Given the description of an element on the screen output the (x, y) to click on. 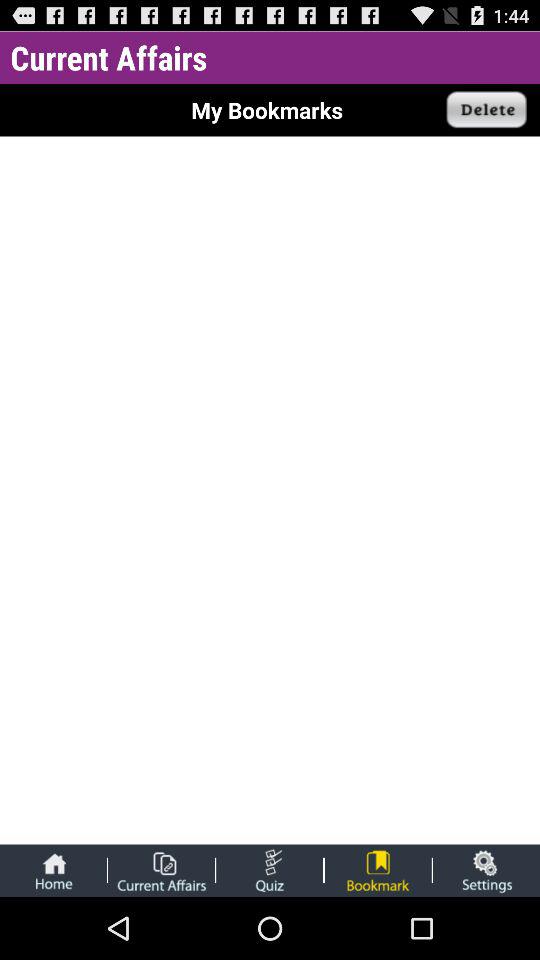
turn off item at the top right corner (487, 109)
